Given the description of an element on the screen output the (x, y) to click on. 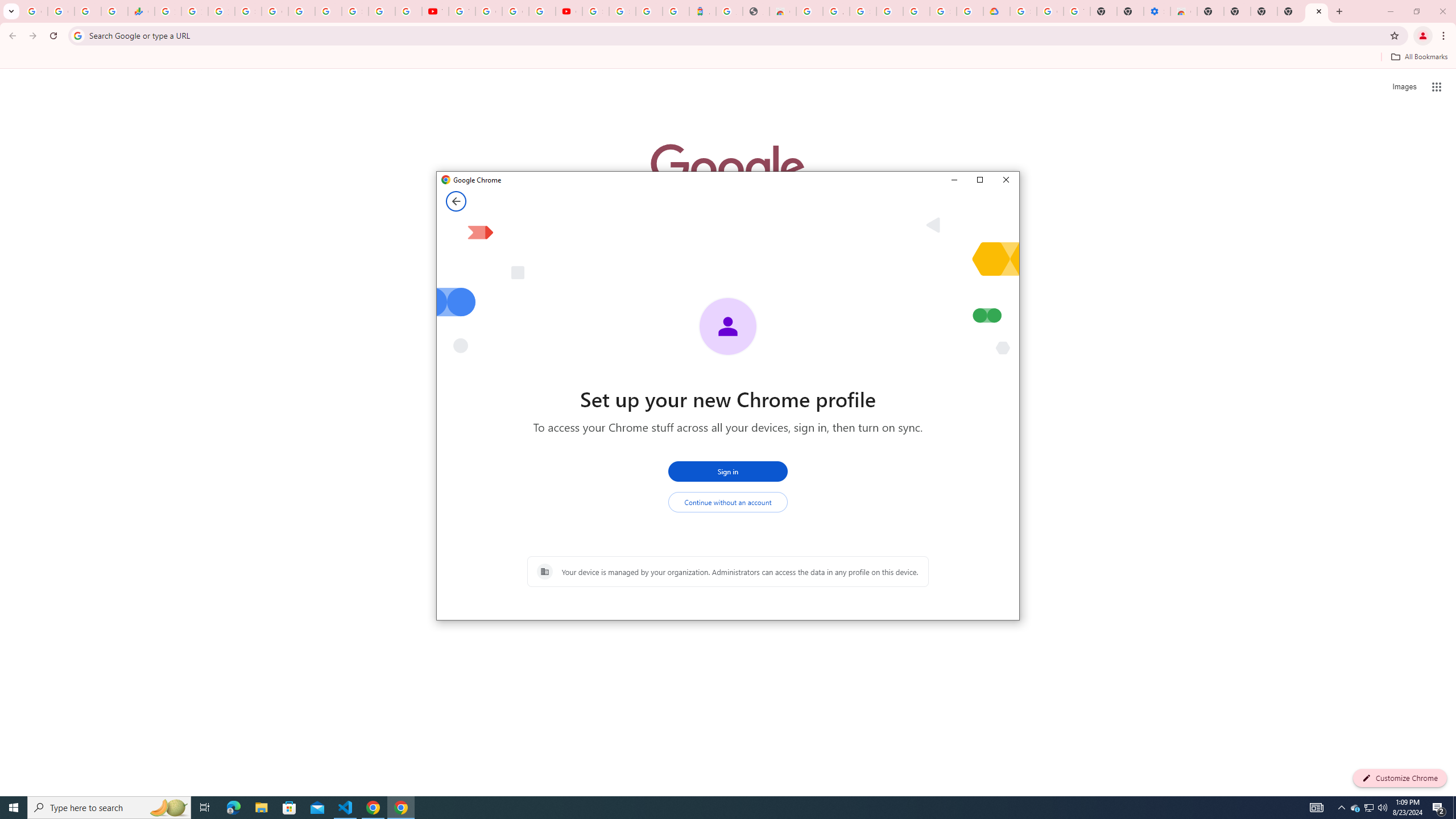
Content Creator Programs & Opportunities - YouTube Creators (569, 11)
New Tab (1316, 11)
Microsoft Edge (233, 807)
All Bookmarks (1418, 56)
Maximize (979, 180)
Privacy Checkup (408, 11)
Create your Google Account (515, 11)
